Given the description of an element on the screen output the (x, y) to click on. 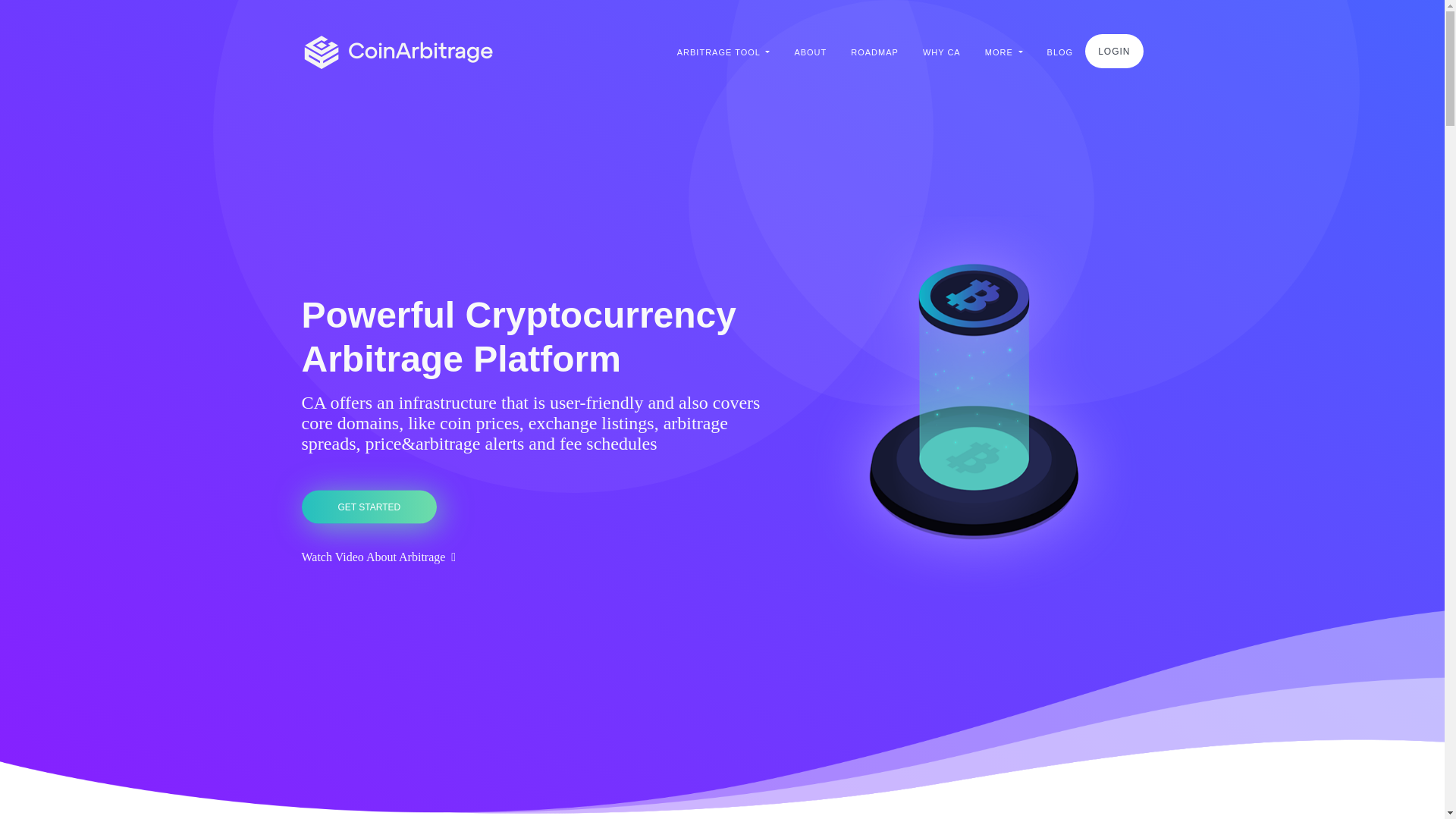
BLOG (1060, 52)
ABOUT (809, 52)
WHY CA (941, 52)
GET STARTED (369, 507)
ARBITRAGE TOOL (724, 52)
BLOG (1060, 52)
ROADMAP (874, 52)
WHY CA (941, 52)
ABOUT (809, 52)
Watch Video About Arbitrage (379, 555)
MORE (1003, 52)
ROADMAP (874, 52)
LOGIN (1113, 51)
LOGIN (1113, 51)
